Given the description of an element on the screen output the (x, y) to click on. 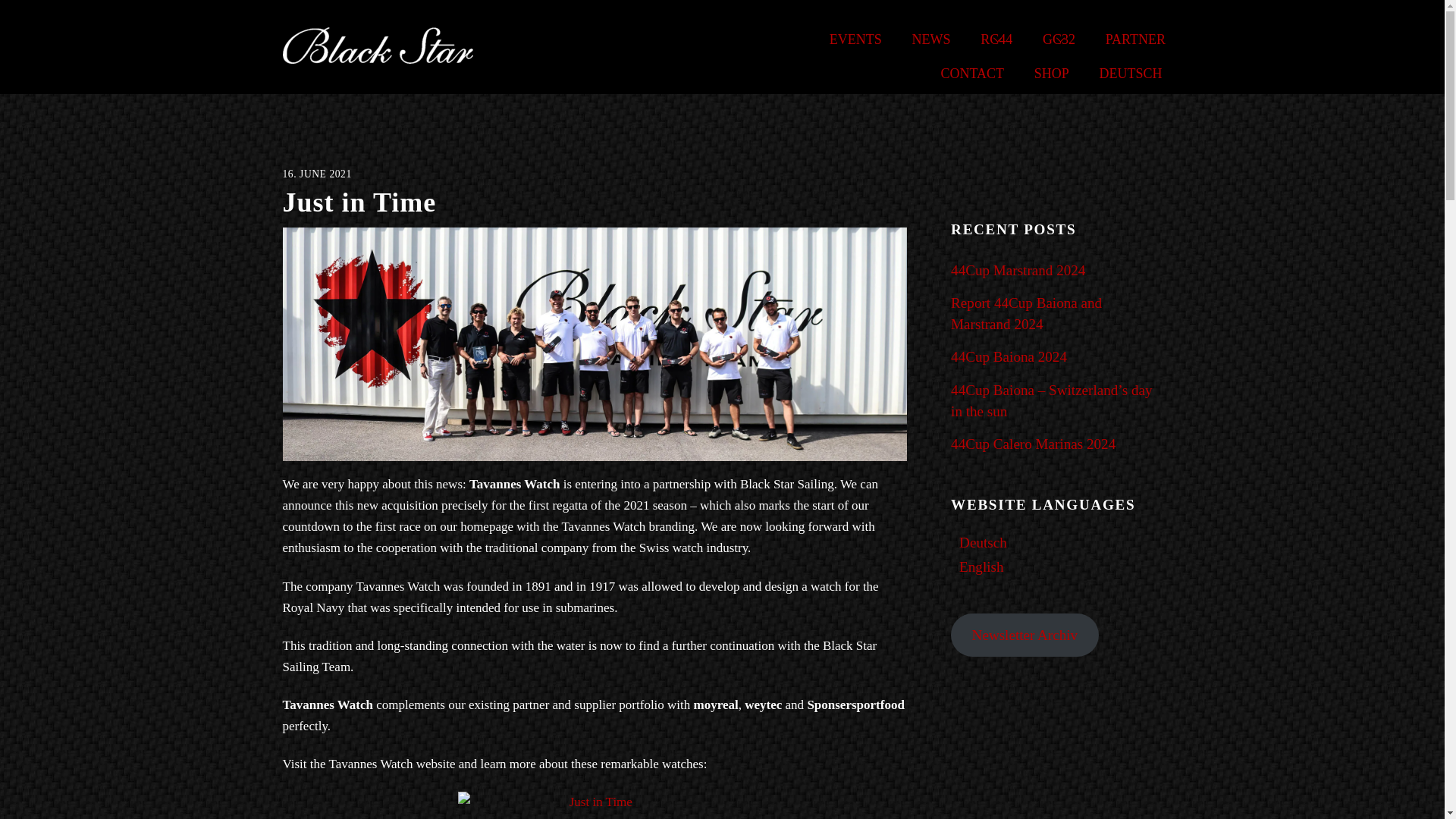
SHOP (1036, 73)
GC32 (1043, 39)
Deutsch (983, 541)
CONTACT (957, 73)
DEUTSCH (1114, 73)
44Cup Baiona 2024 (1008, 356)
RC44 (980, 39)
Just in Time (594, 802)
Newsletter Archiv (1024, 635)
NEWS (915, 39)
